Given the description of an element on the screen output the (x, y) to click on. 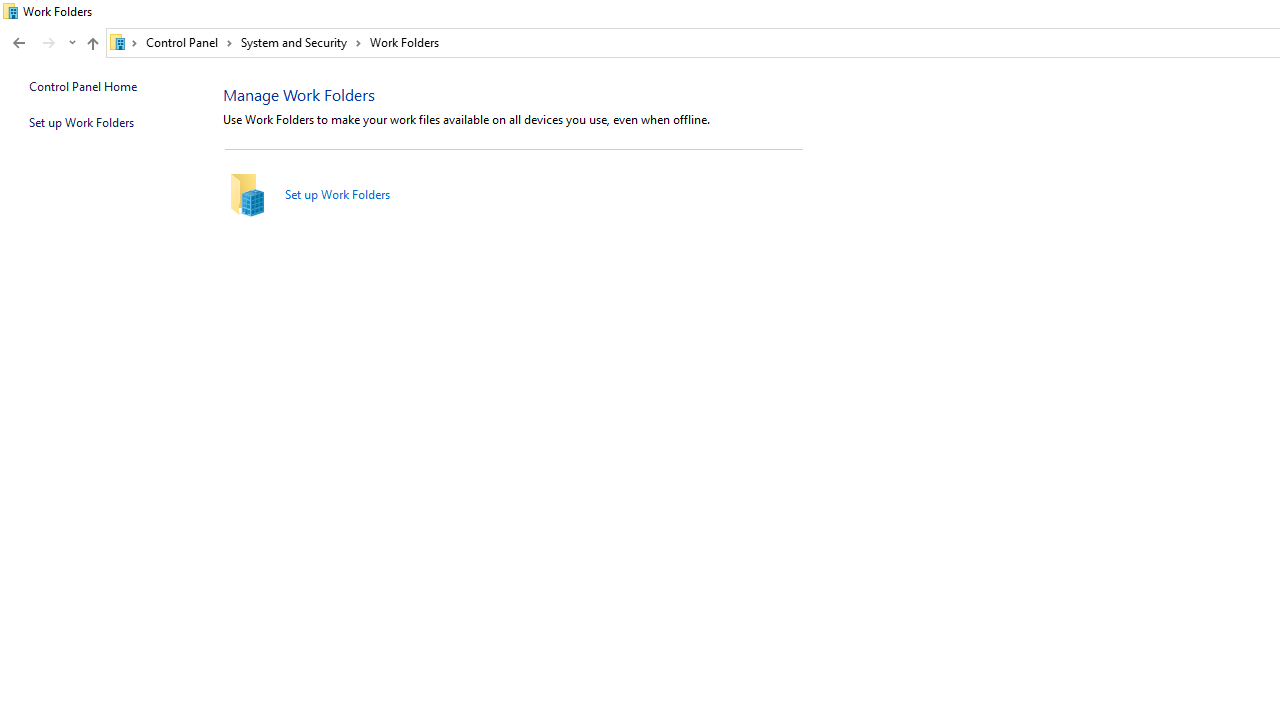
Work Folders (404, 42)
System (10, 11)
Up band toolbar (92, 46)
Navigation buttons (41, 43)
Recent locations (71, 43)
System and Security (301, 42)
Control Panel Home (82, 86)
Control Panel (189, 42)
All locations (124, 42)
Up to "System and Security" (Alt + Up Arrow) (92, 43)
Back to System and Security (Alt + Left Arrow) (18, 43)
Forward (Alt + Right Arrow) (49, 43)
Set up Work Folders (337, 194)
System (10, 11)
